Given the description of an element on the screen output the (x, y) to click on. 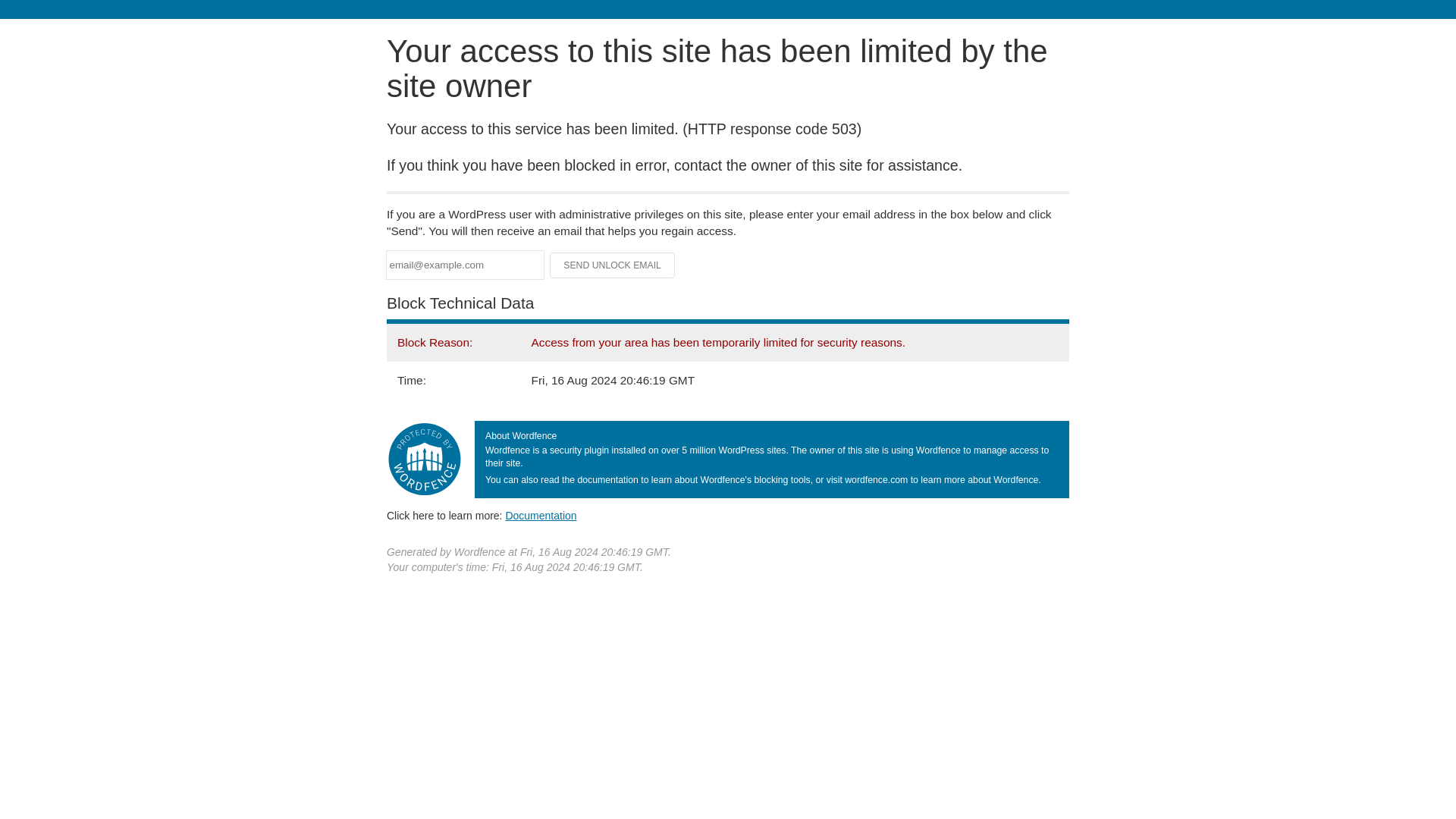
Send Unlock Email (612, 265)
Documentation (540, 515)
Send Unlock Email (612, 265)
